Given the description of an element on the screen output the (x, y) to click on. 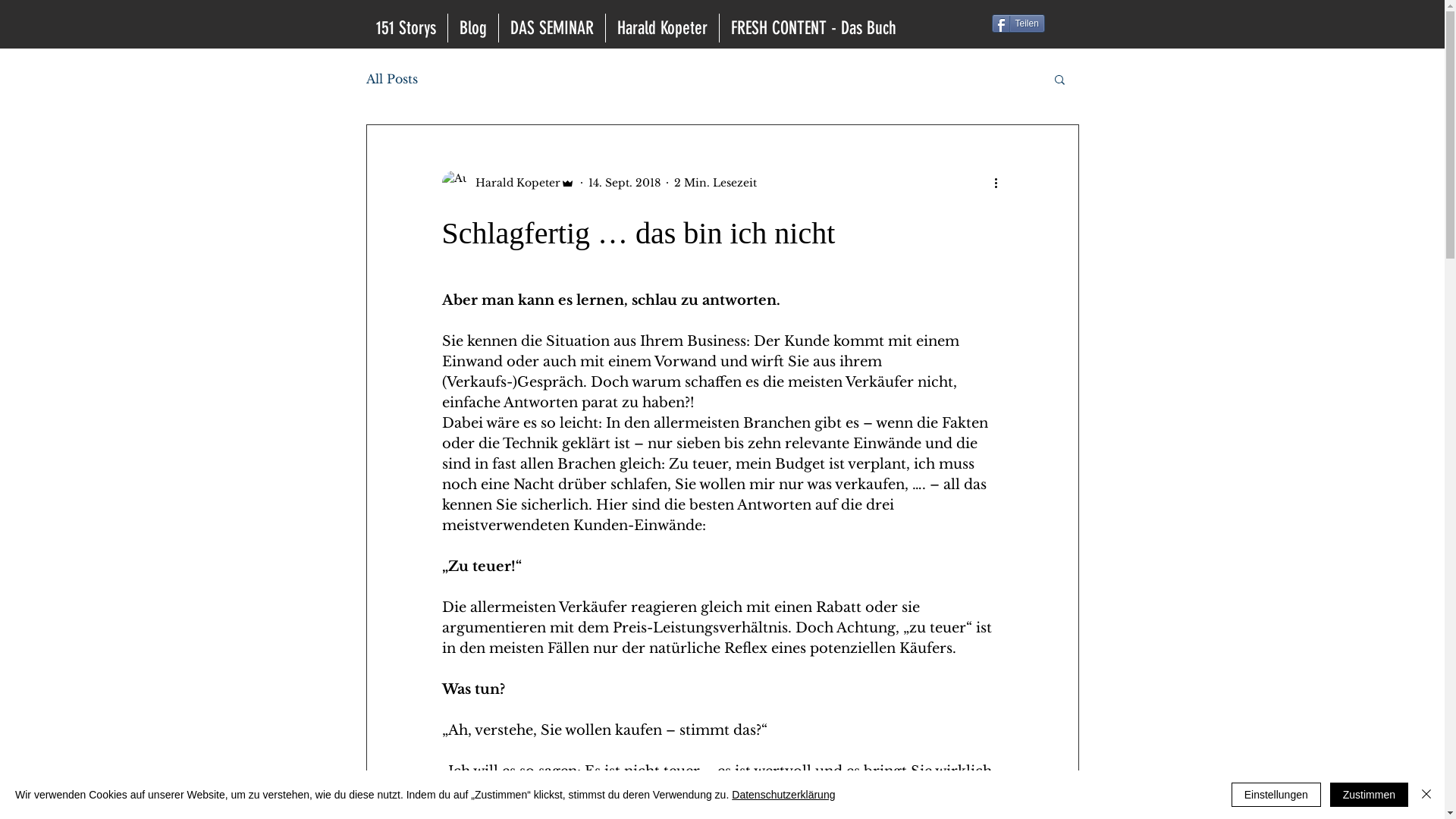
Einstellungen Element type: text (1276, 794)
Blog Element type: text (472, 27)
Zustimmen Element type: text (1369, 794)
Teilen Element type: text (1017, 23)
Harald Kopeter Element type: text (661, 27)
151 Storys Element type: text (405, 27)
All Posts Element type: text (391, 78)
DAS SEMINAR Element type: text (551, 27)
FRESH CONTENT - Das Buch Element type: text (812, 27)
